Given the description of an element on the screen output the (x, y) to click on. 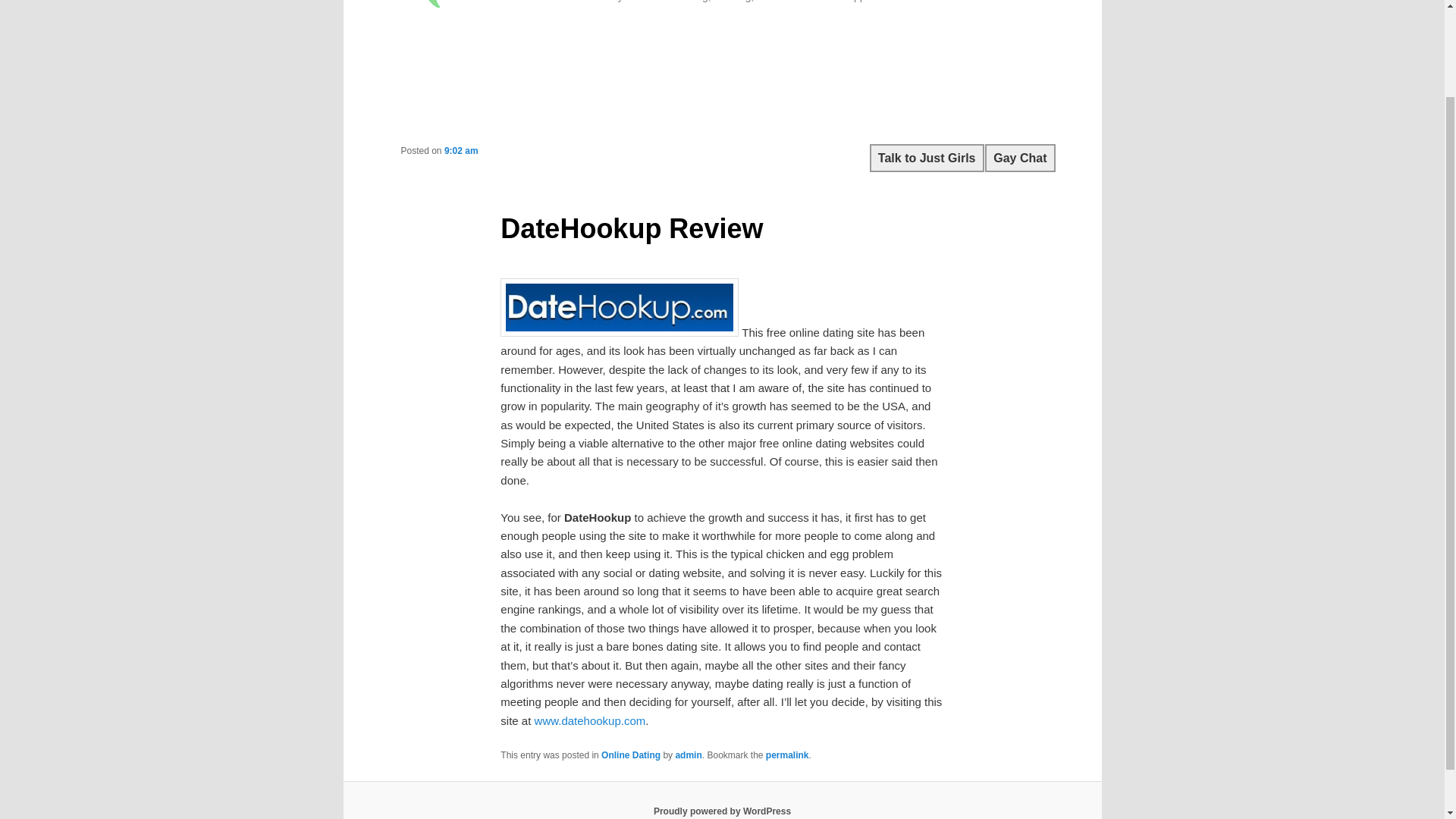
Gay Chat (1019, 157)
Online Dating (631, 755)
Permalink to DateHookup Review (787, 755)
Semantic Personal Publishing Platform (721, 810)
9:02 am (461, 150)
Proudly powered by WordPress (721, 810)
admin (688, 755)
permalink (787, 755)
Talk to Just Girls (926, 157)
9:02 am (461, 150)
